Given the description of an element on the screen output the (x, y) to click on. 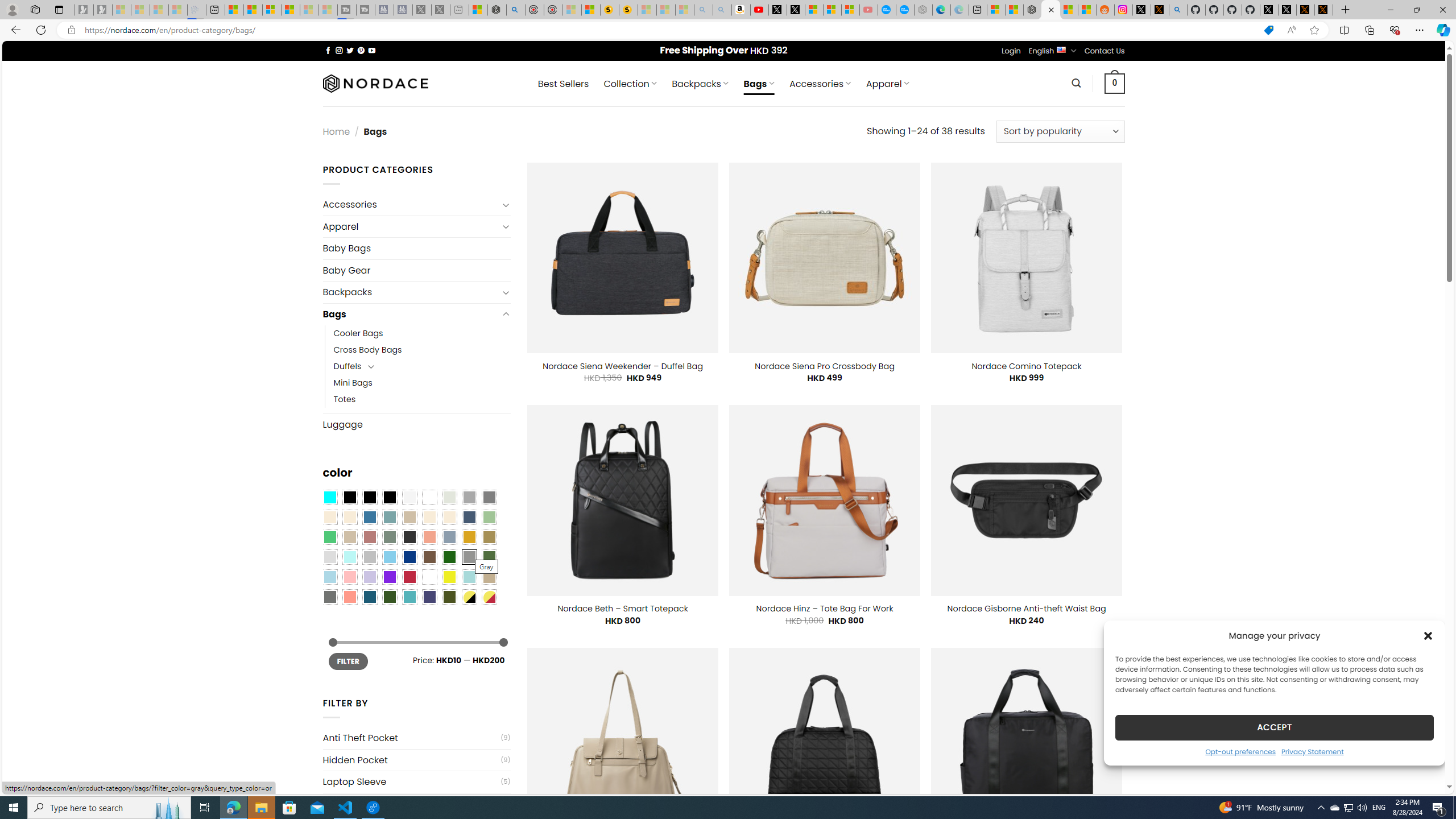
Yellow (449, 577)
X Privacy Policy (1324, 9)
Follow on YouTube (371, 49)
Light Taupe (349, 536)
Nordace - Bags (1050, 9)
Mini Bags (352, 382)
Dark Gray (468, 497)
Ash Gray (449, 497)
Mint (349, 557)
